Given the description of an element on the screen output the (x, y) to click on. 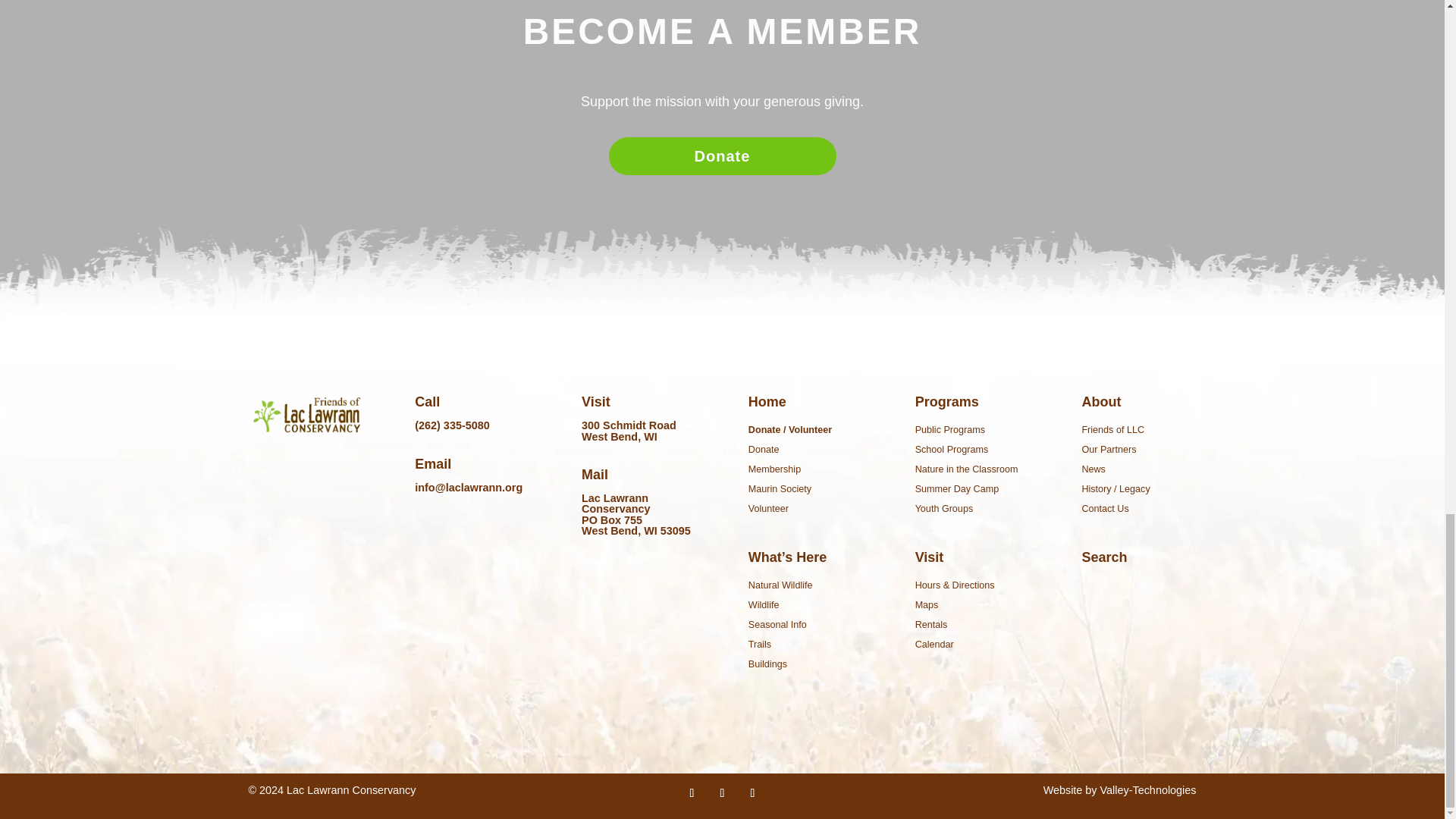
Follow on X (721, 793)
Follow on Facebook (691, 793)
Follow on Instagram (751, 793)
